Given the description of an element on the screen output the (x, y) to click on. 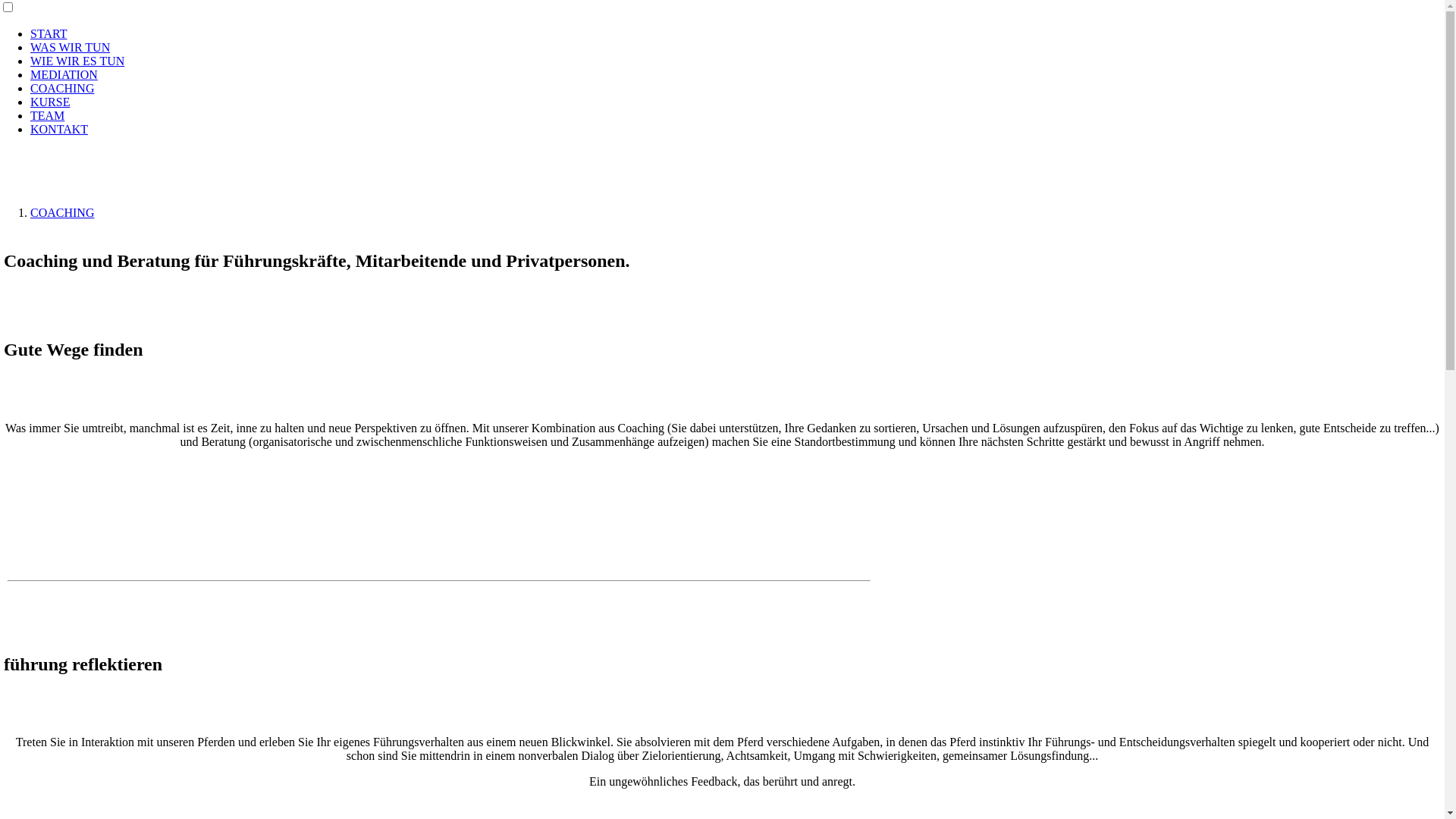
COACHING Element type: text (62, 87)
COACHING Element type: text (62, 212)
WAS WIR TUN Element type: text (69, 46)
WIE WIR ES TUN Element type: text (77, 60)
KURSE Element type: text (49, 101)
START Element type: text (48, 33)
MEDIATION Element type: text (63, 74)
KONTAKT Element type: text (58, 128)
TEAM Element type: text (47, 115)
